Given the description of an element on the screen output the (x, y) to click on. 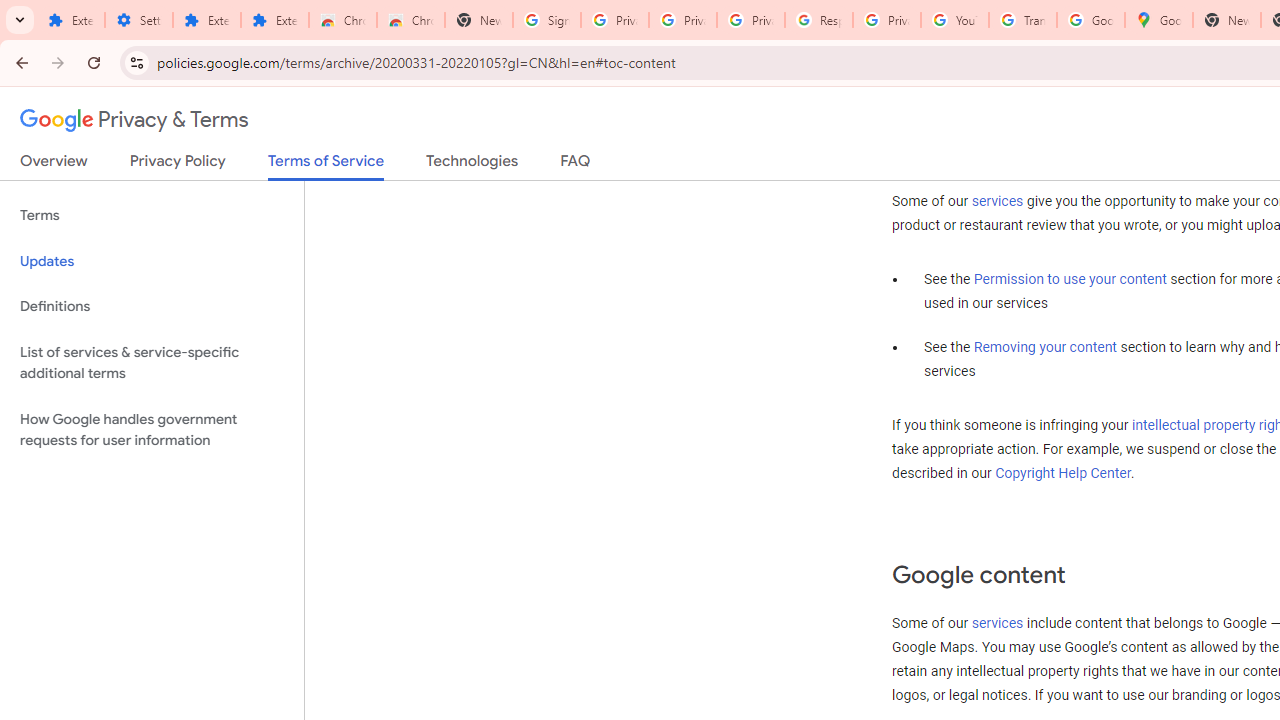
New Tab (479, 20)
Chrome Web Store (342, 20)
How Google handles government requests for user information (152, 429)
Chrome Web Store - Themes (411, 20)
